Given the description of an element on the screen output the (x, y) to click on. 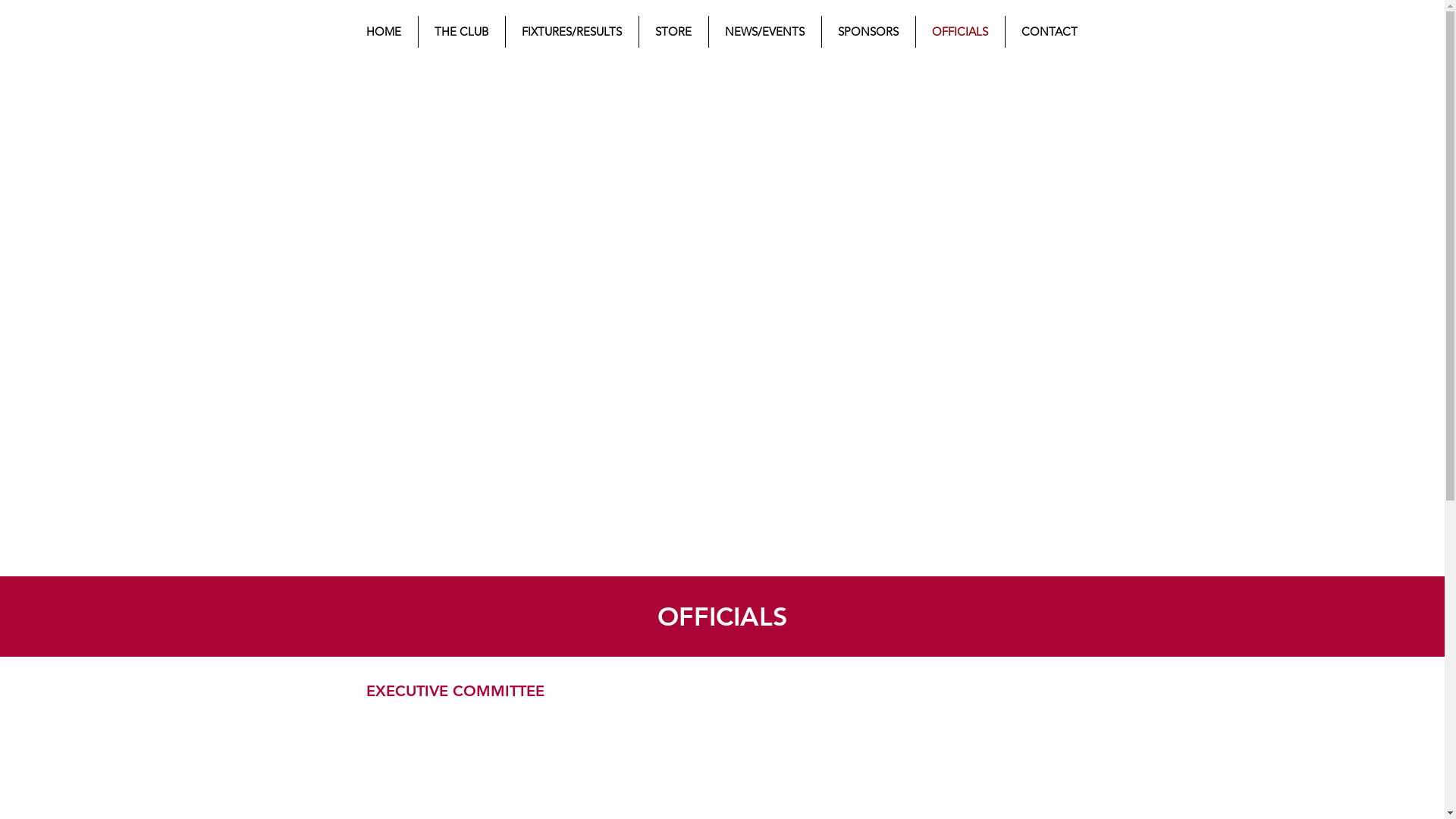
STORE Element type: text (672, 31)
OFFICIALS Element type: text (960, 31)
CONTACT Element type: text (1049, 31)
SPONSORS Element type: text (868, 31)
THE CLUB Element type: text (461, 31)
HOME Element type: text (383, 31)
FIXTURES/RESULTS Element type: text (571, 31)
